Given the description of an element on the screen output the (x, y) to click on. 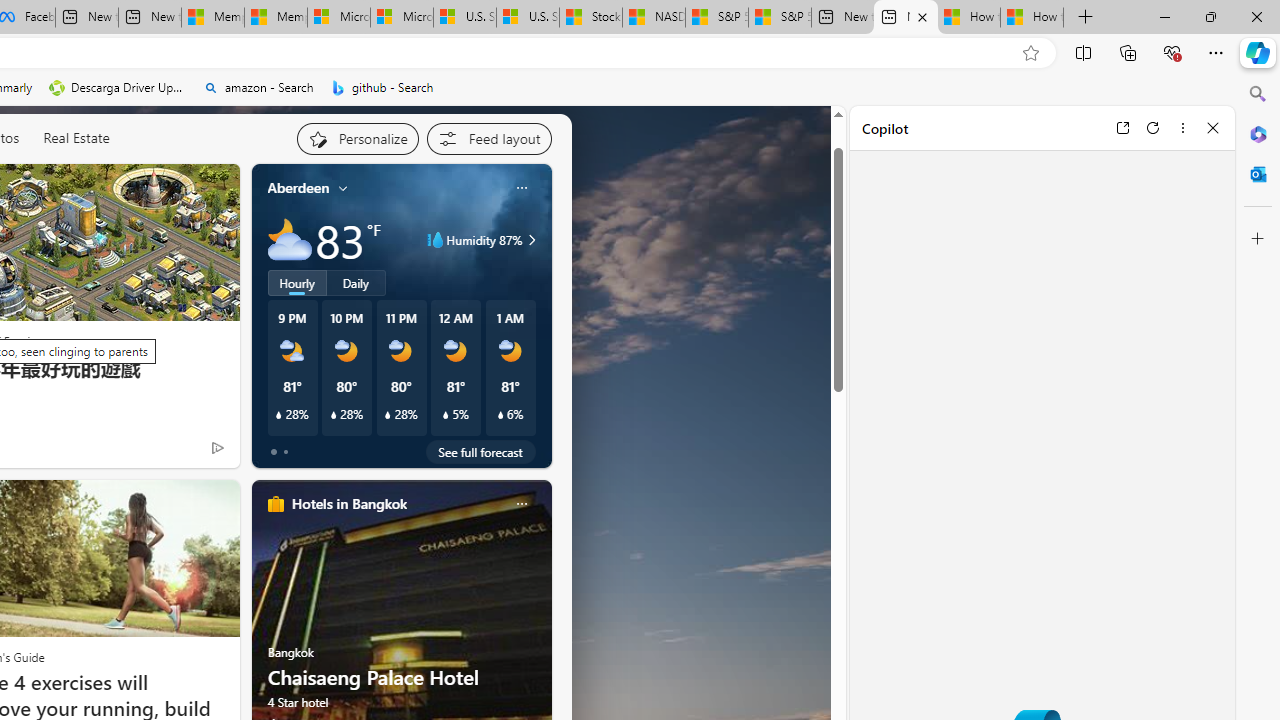
Mostly cloudy (289, 240)
S&P 500, Nasdaq end lower, weighed by Nvidia dip | Watch (779, 17)
See full forecast (480, 451)
github - Search (381, 88)
Humidity 87% (529, 240)
Feed settings (488, 138)
My location (343, 187)
Outlook (1258, 174)
